Given the description of an element on the screen output the (x, y) to click on. 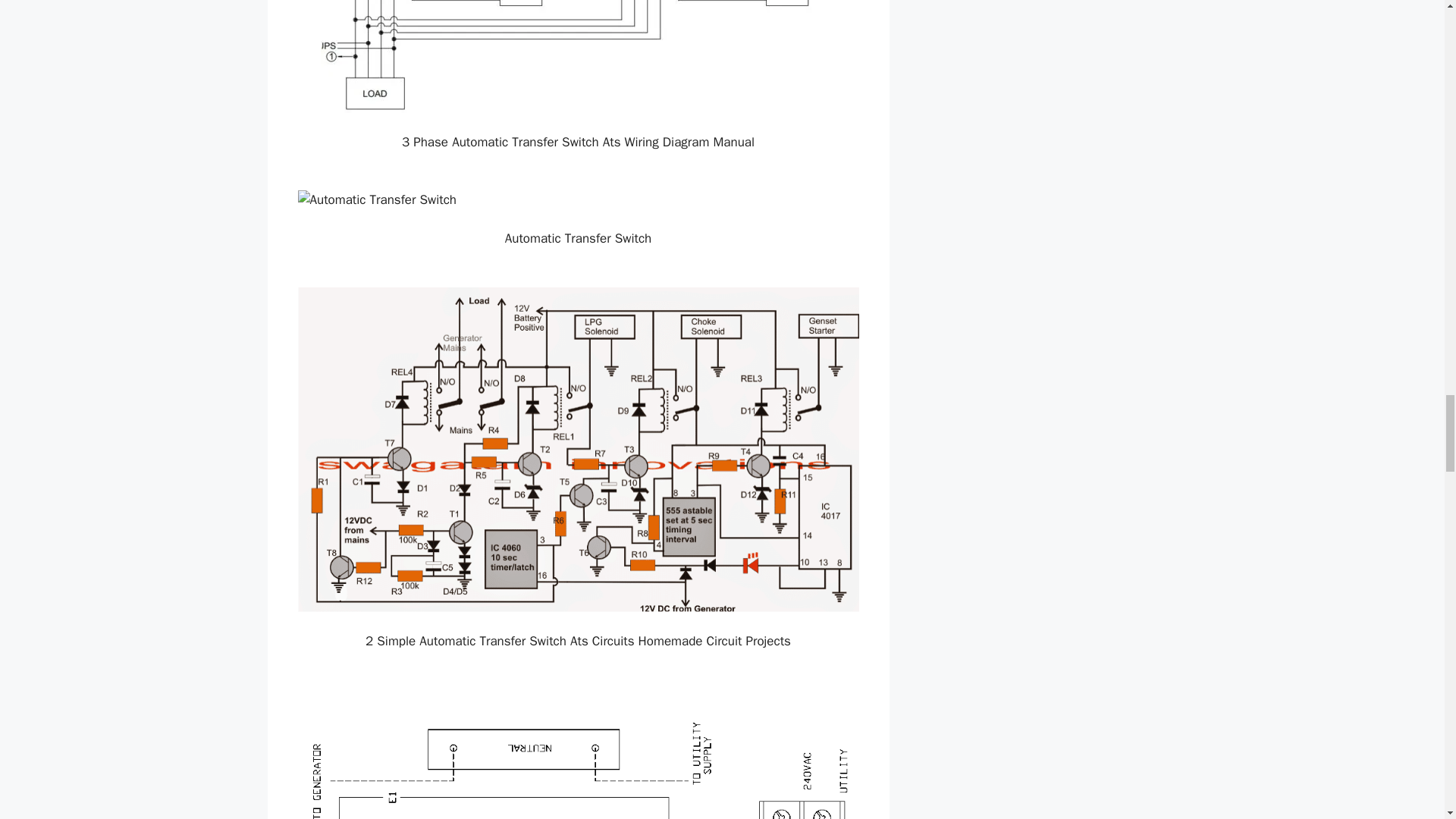
Automatic Transfer Switch (578, 199)
3 Phase Automatic Transfer Switch Ats Wiring Diagram Manual (577, 56)
